Given the description of an element on the screen output the (x, y) to click on. 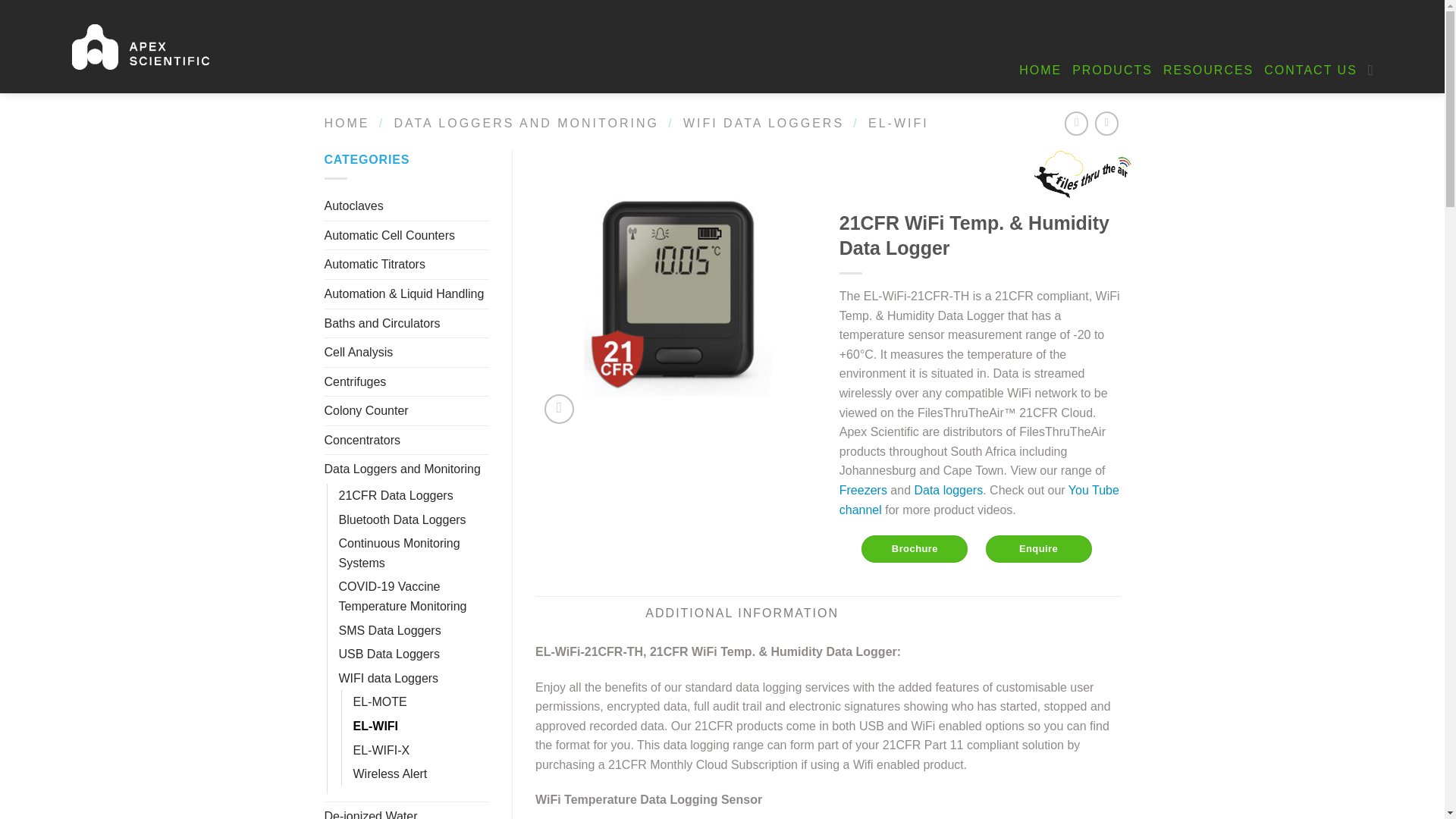
CONTACT US (1309, 70)
PRODUCTS (1112, 70)
Zoom (558, 408)
DATA LOGGERS AND MONITORING (525, 123)
HOME (1040, 70)
Automatic Titrators (406, 264)
Baths and Circulators (406, 323)
Automatic Cell Counters (406, 235)
HOME (346, 123)
WIFI DATA LOGGERS (763, 123)
EL-WIFI (897, 123)
Autoclaves (406, 205)
RESOURCES (1208, 70)
